Given the description of an element on the screen output the (x, y) to click on. 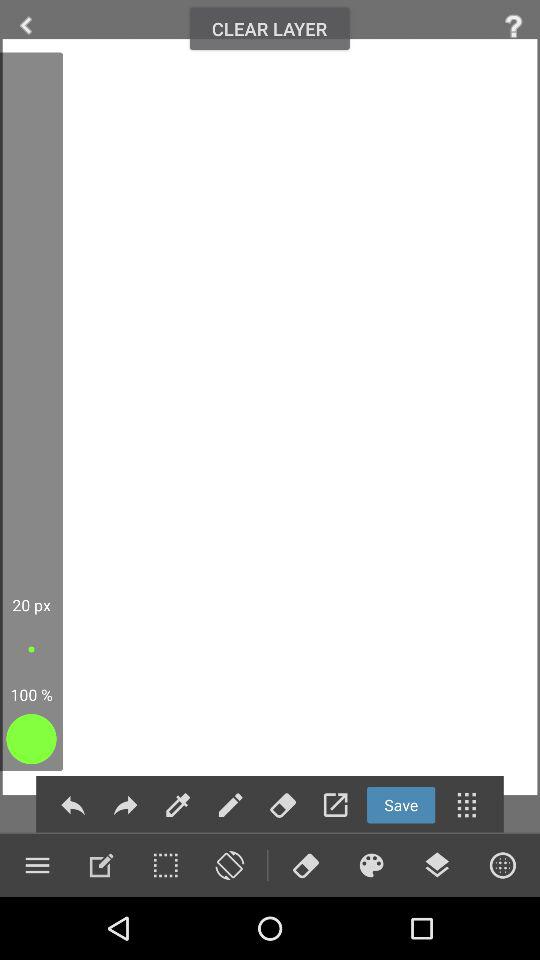
edit (177, 804)
